Given the description of an element on the screen output the (x, y) to click on. 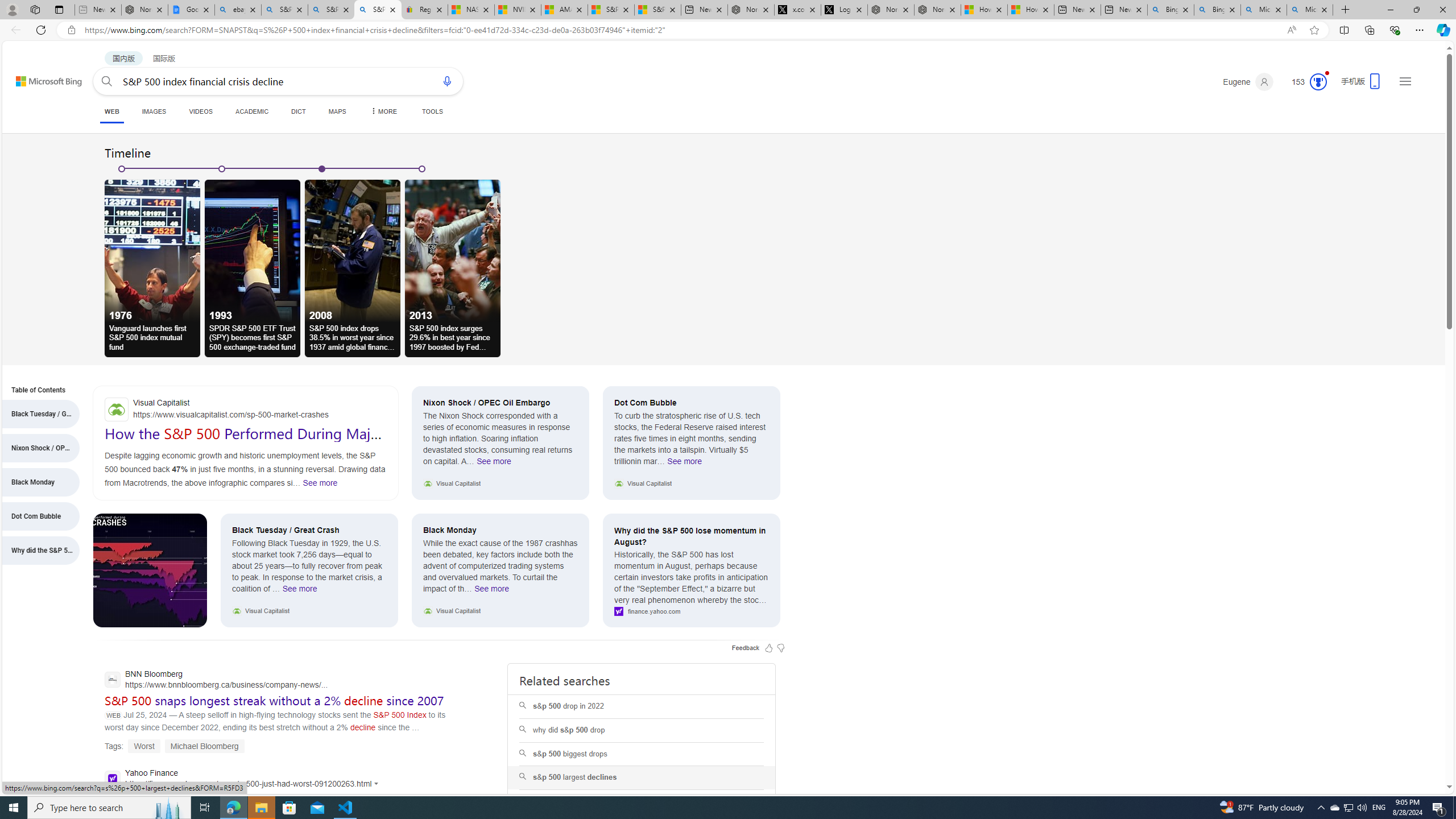
s&p 500 index historical drops (641, 801)
VIDEOS (201, 111)
S&P 500 - Search (330, 9)
Feedback Dislike (780, 647)
S&P 500 snaps longest streak without a 2% decline since 2007 (274, 700)
DICT (298, 111)
Tags: Worst Michael Bloomberg (174, 745)
